Given the description of an element on the screen output the (x, y) to click on. 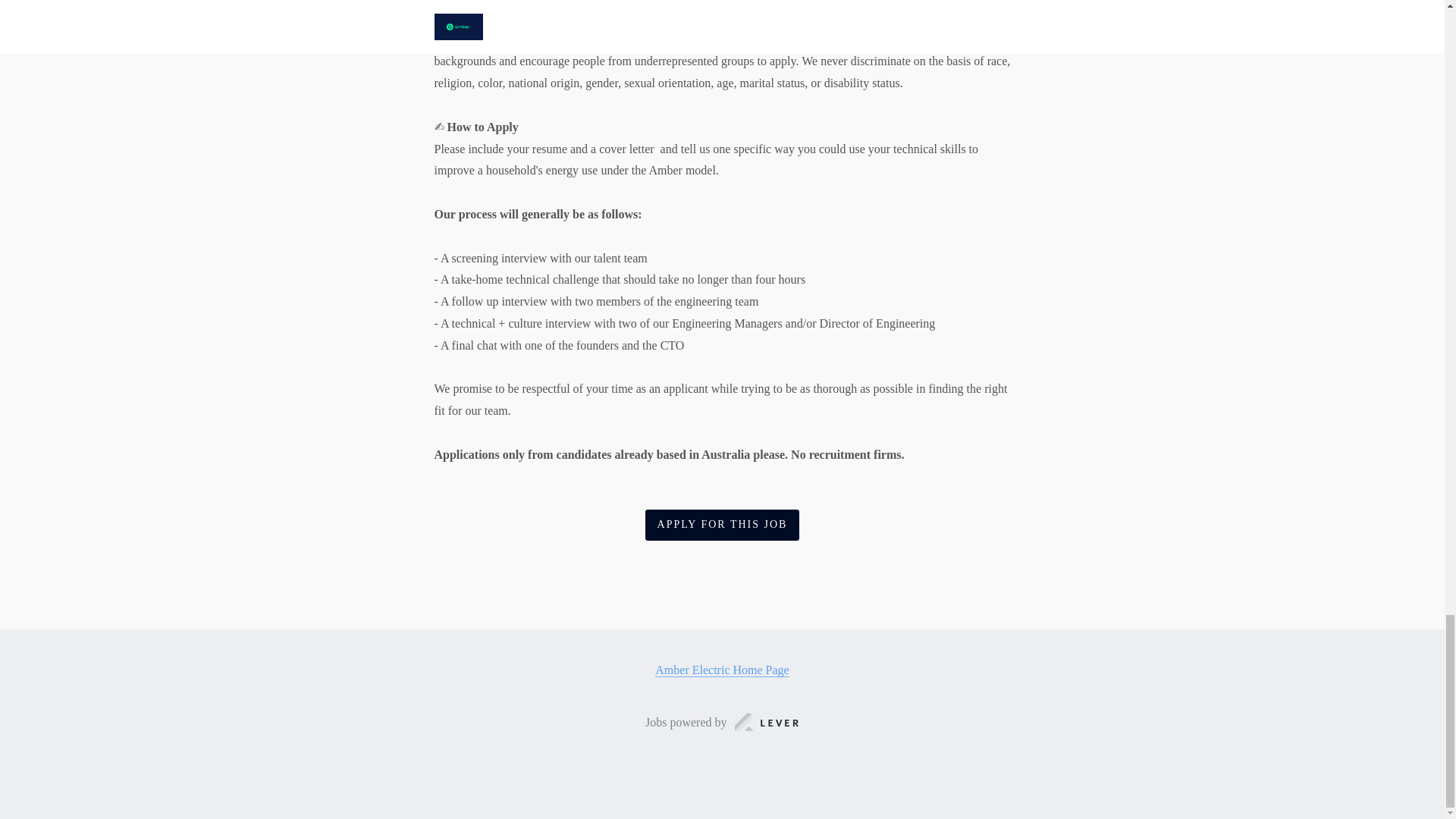
Jobs powered by (722, 722)
Amber Electric Home Page (722, 670)
APPLY FOR THIS JOB (722, 524)
